Given the description of an element on the screen output the (x, y) to click on. 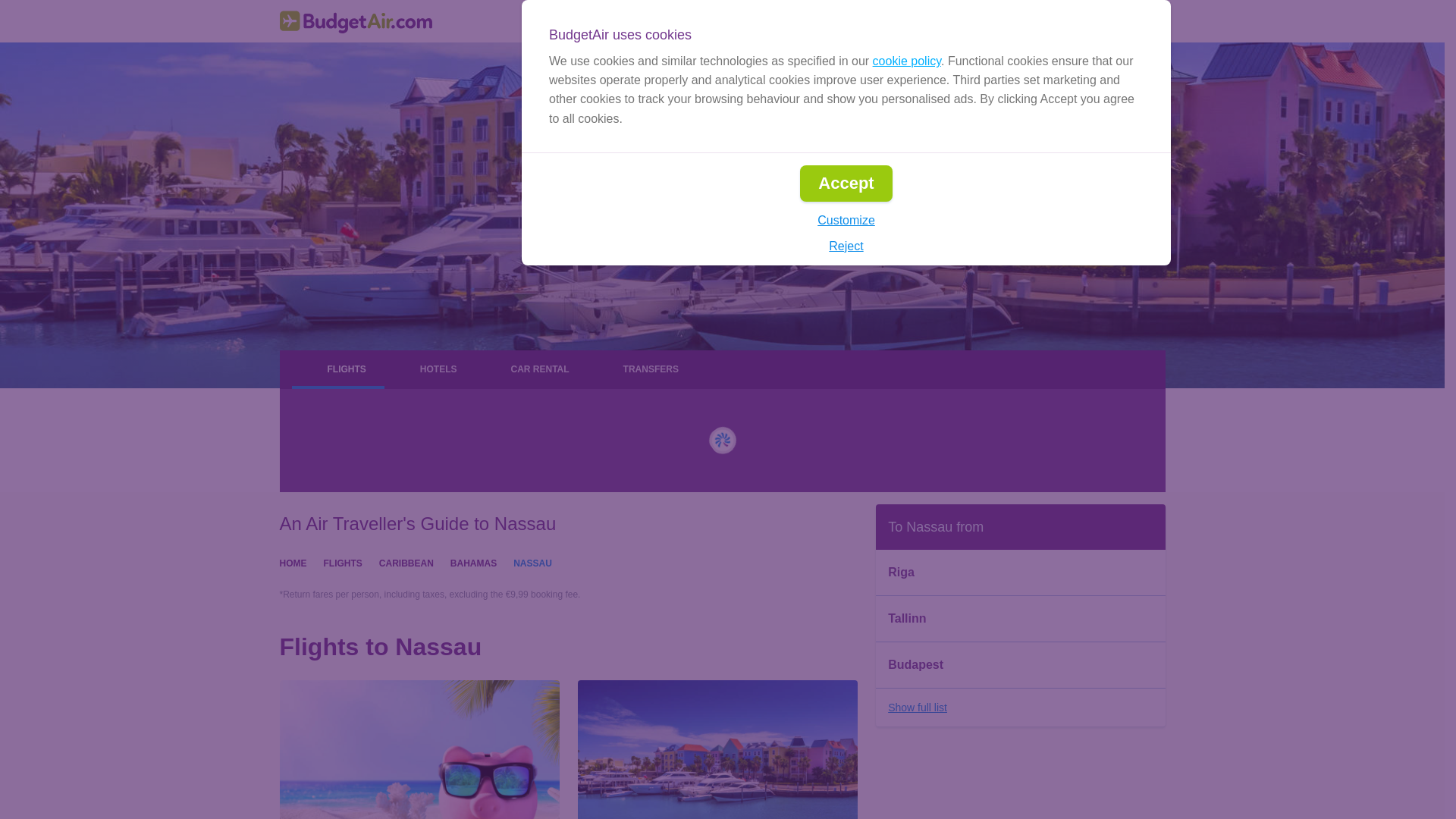
cookie policy (906, 60)
CARIBBEAN (405, 562)
English (902, 21)
FLIGHTS (342, 562)
Accept (845, 183)
HOME (292, 562)
BAHAMAS (472, 562)
My Account (1116, 21)
